Given the description of an element on the screen output the (x, y) to click on. 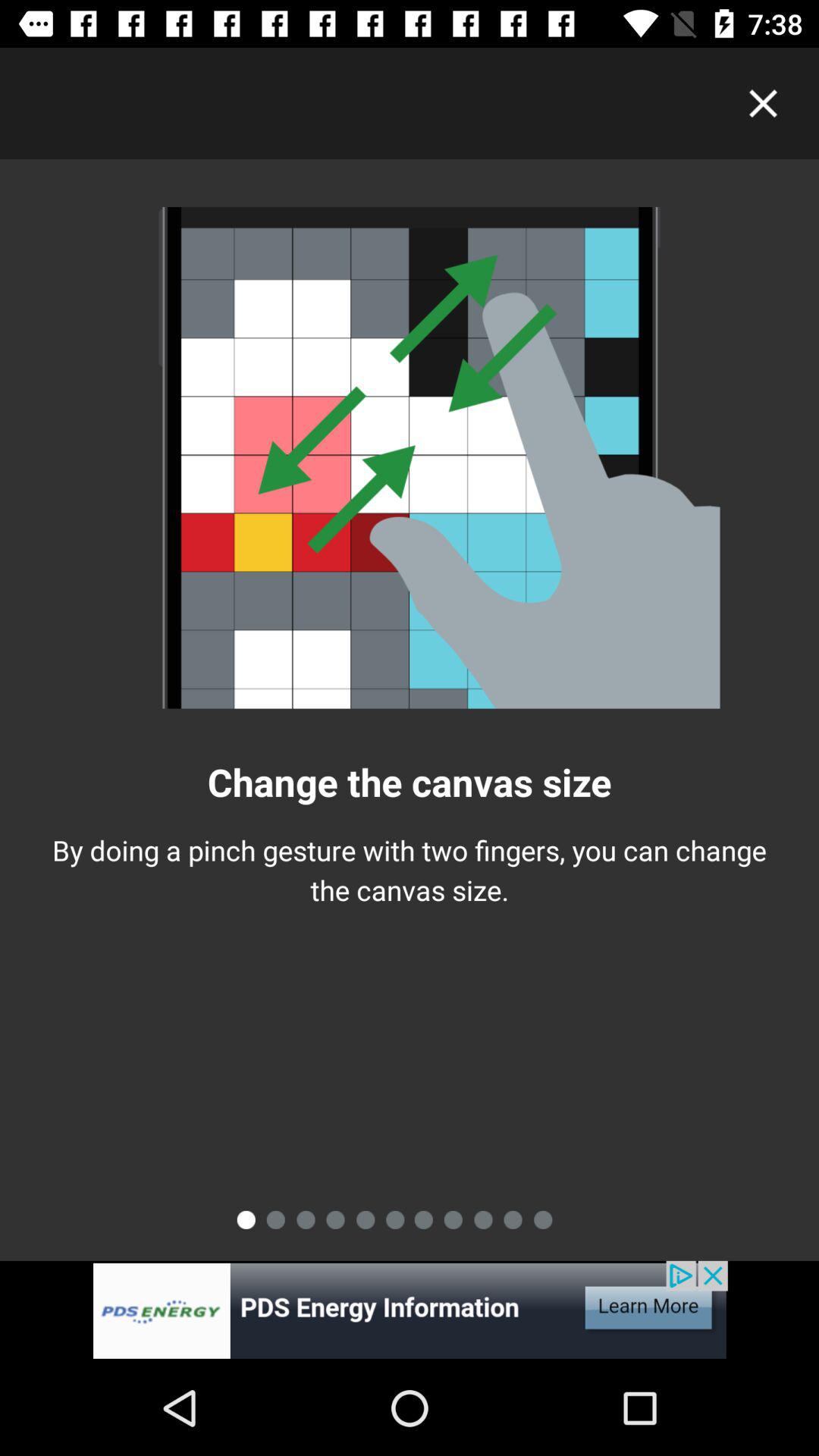
visit advertisement (409, 1310)
